Given the description of an element on the screen output the (x, y) to click on. 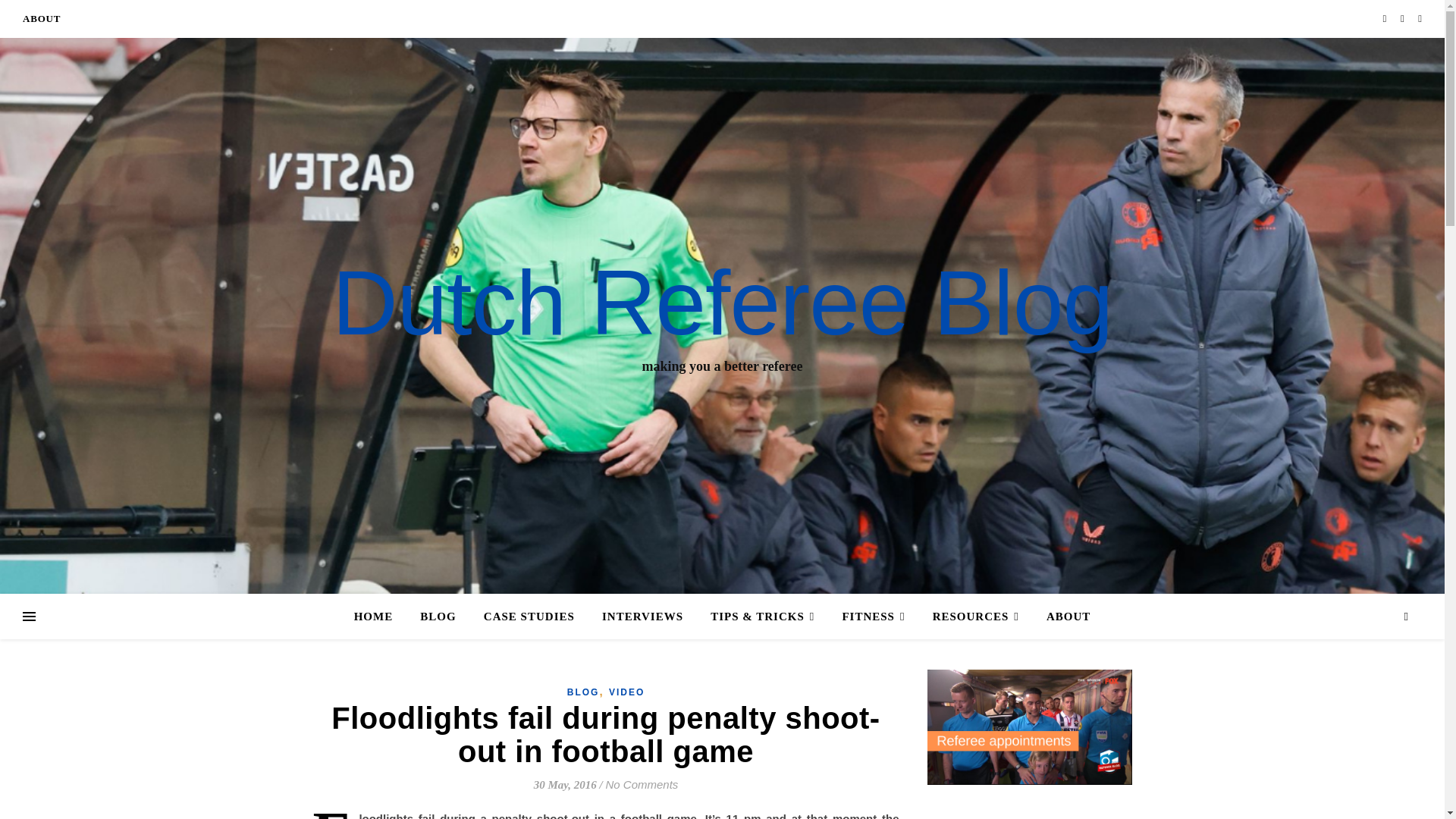
ABOUT (42, 18)
FITNESS (873, 616)
RESOURCES (975, 616)
CASE STUDIES (528, 616)
INTERVIEWS (642, 616)
ABOUT (1061, 616)
BLOG (437, 616)
Dutch Referee Blog (721, 302)
HOME (379, 616)
